Given the description of an element on the screen output the (x, y) to click on. 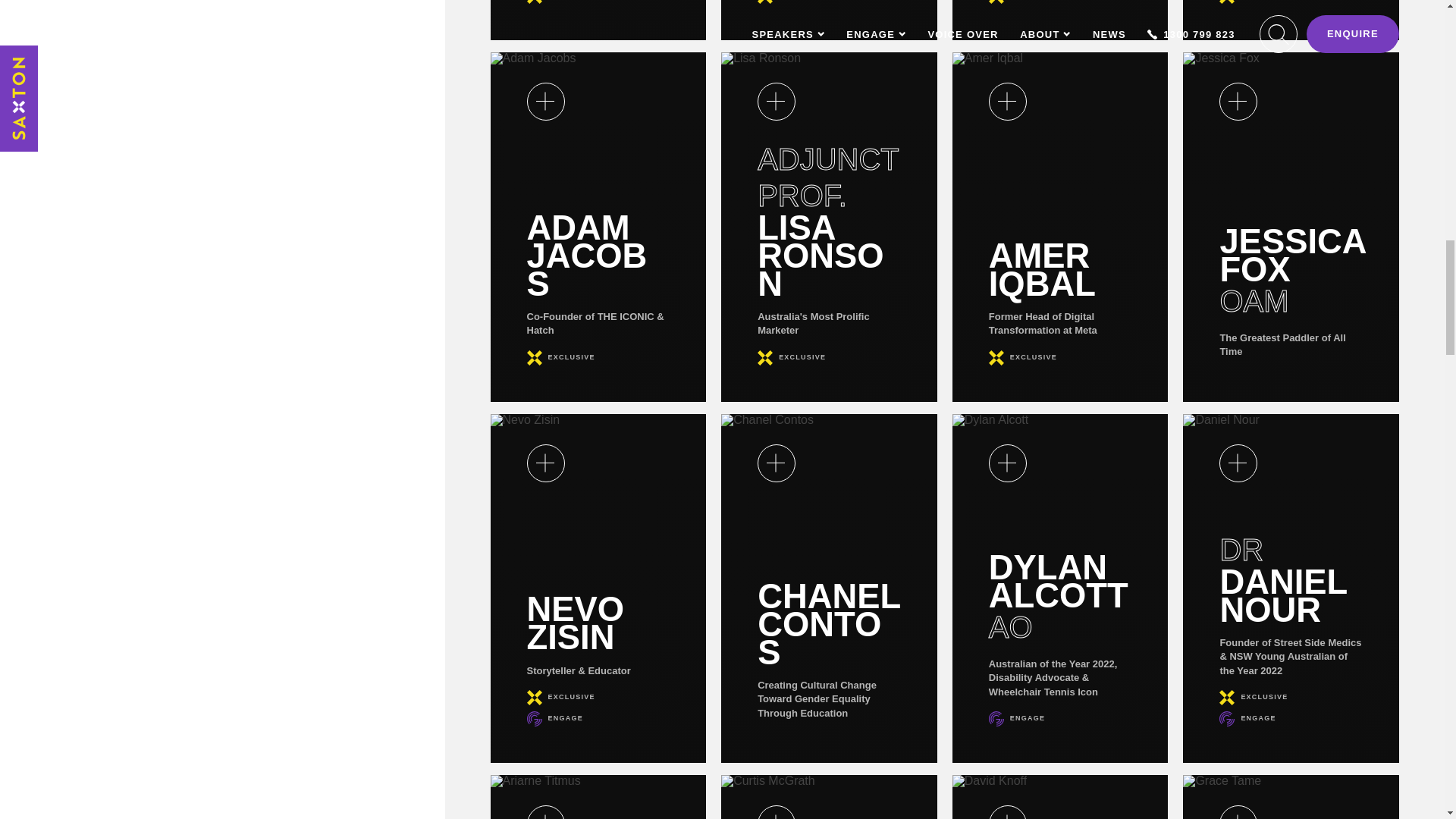
Dr Sandra Peter and Dr Kai Riemer (828, 20)
David Knoff (1060, 796)
Gina Chick (1290, 20)
Ariarne Titmus (597, 796)
Curtis McGrath (828, 796)
Toby Feakin (597, 20)
